Given the description of an element on the screen output the (x, y) to click on. 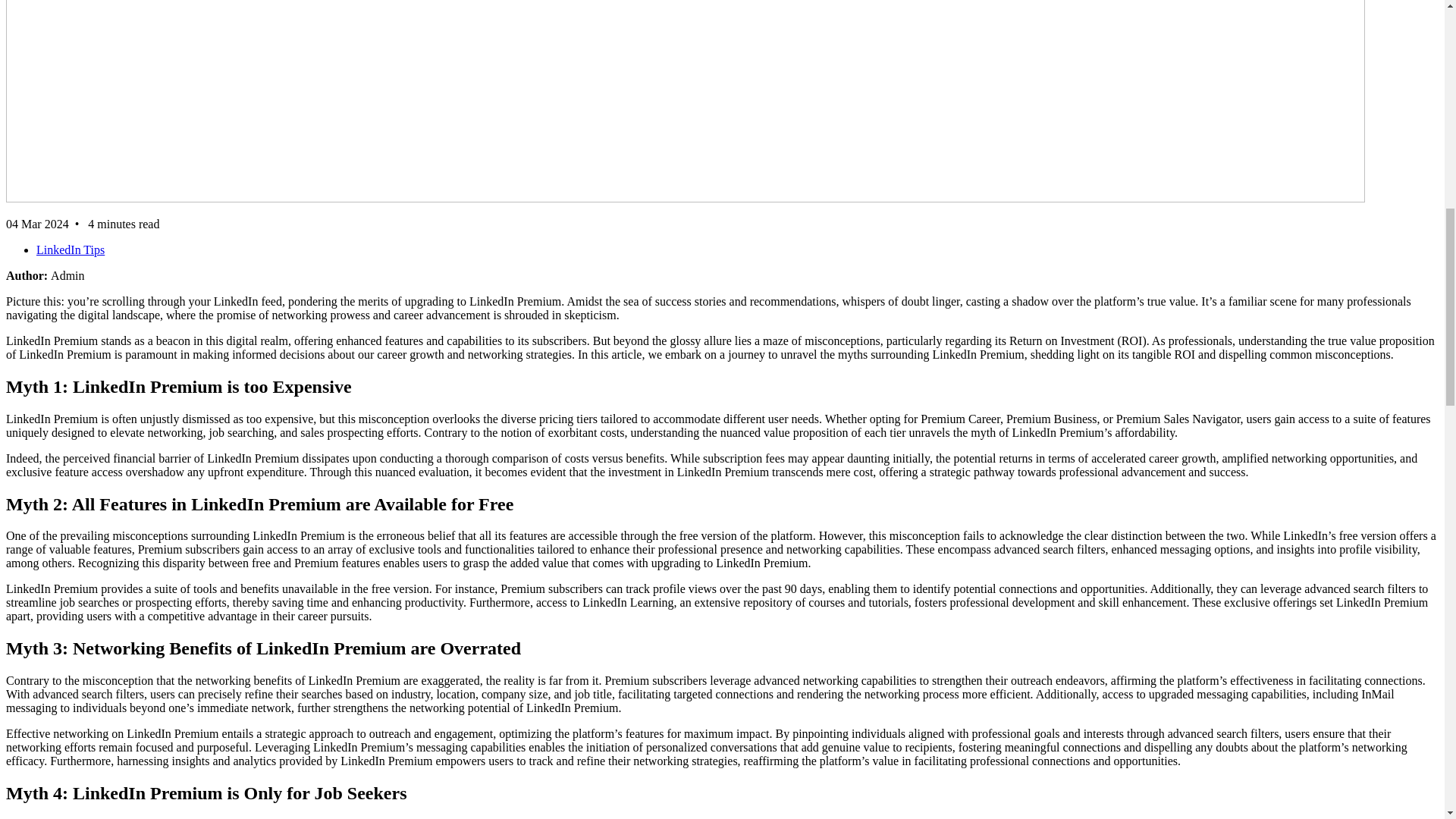
LinkedIn Tips (70, 249)
